Given the description of an element on the screen output the (x, y) to click on. 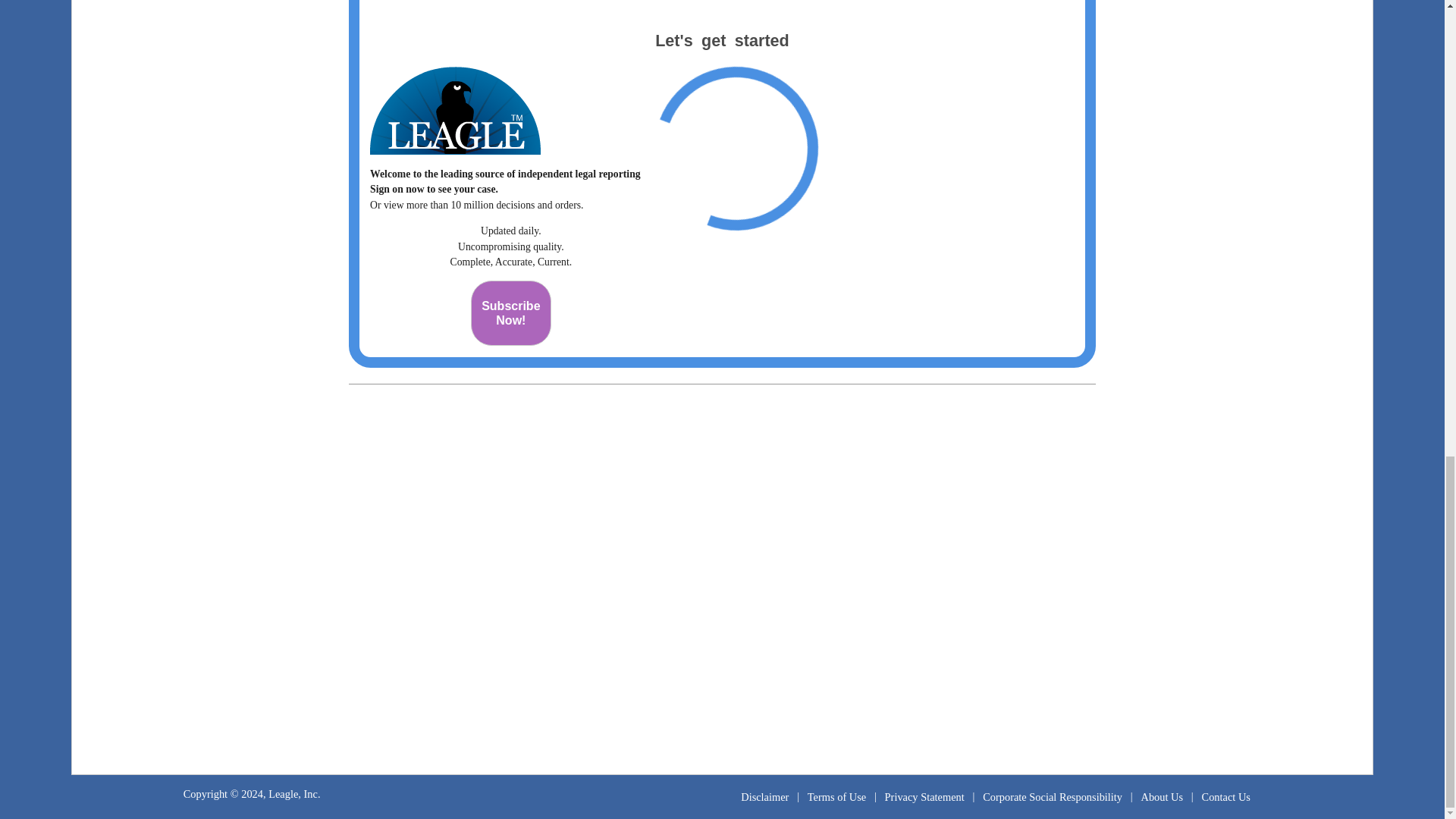
Contact Us (1225, 796)
Corporate Social Responsibility (1052, 796)
Privacy Statement (924, 796)
Terms of Use (837, 796)
About Us (510, 312)
Disclaimer (1162, 796)
